Given the description of an element on the screen output the (x, y) to click on. 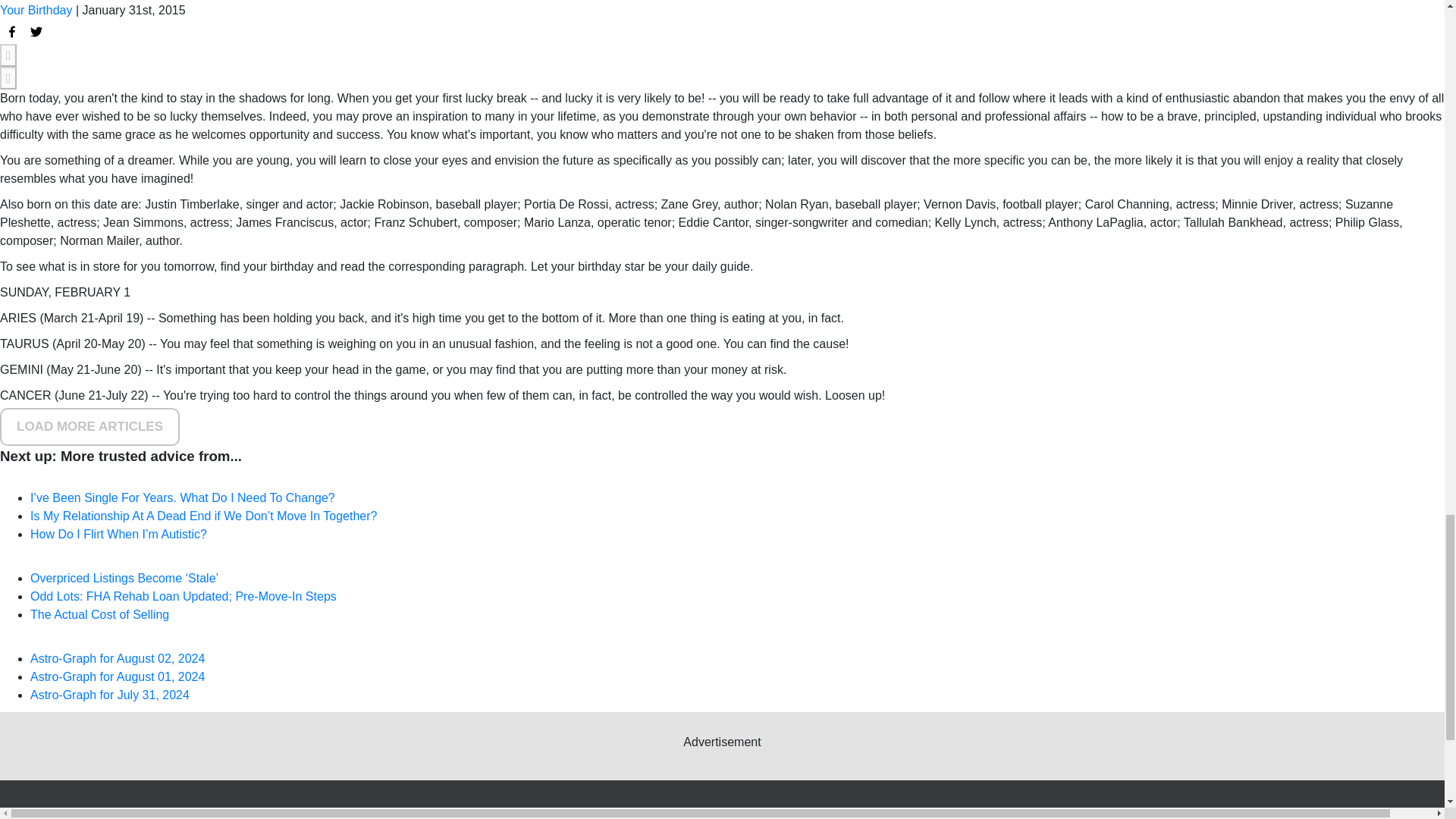
The Actual Cost of Selling (99, 614)
Astro-Graph for August 02, 2024 (117, 658)
LOAD MORE ARTICLES (89, 426)
Odd Lots: FHA Rehab Loan Updated; Pre-Move-In Steps (183, 595)
Astro-Graph for August 01, 2024 (117, 676)
Your Birthday (35, 10)
Your Birthday for January 31, 2015 (12, 31)
Astro-Graph for July 31, 2024 (109, 694)
